Given the description of an element on the screen output the (x, y) to click on. 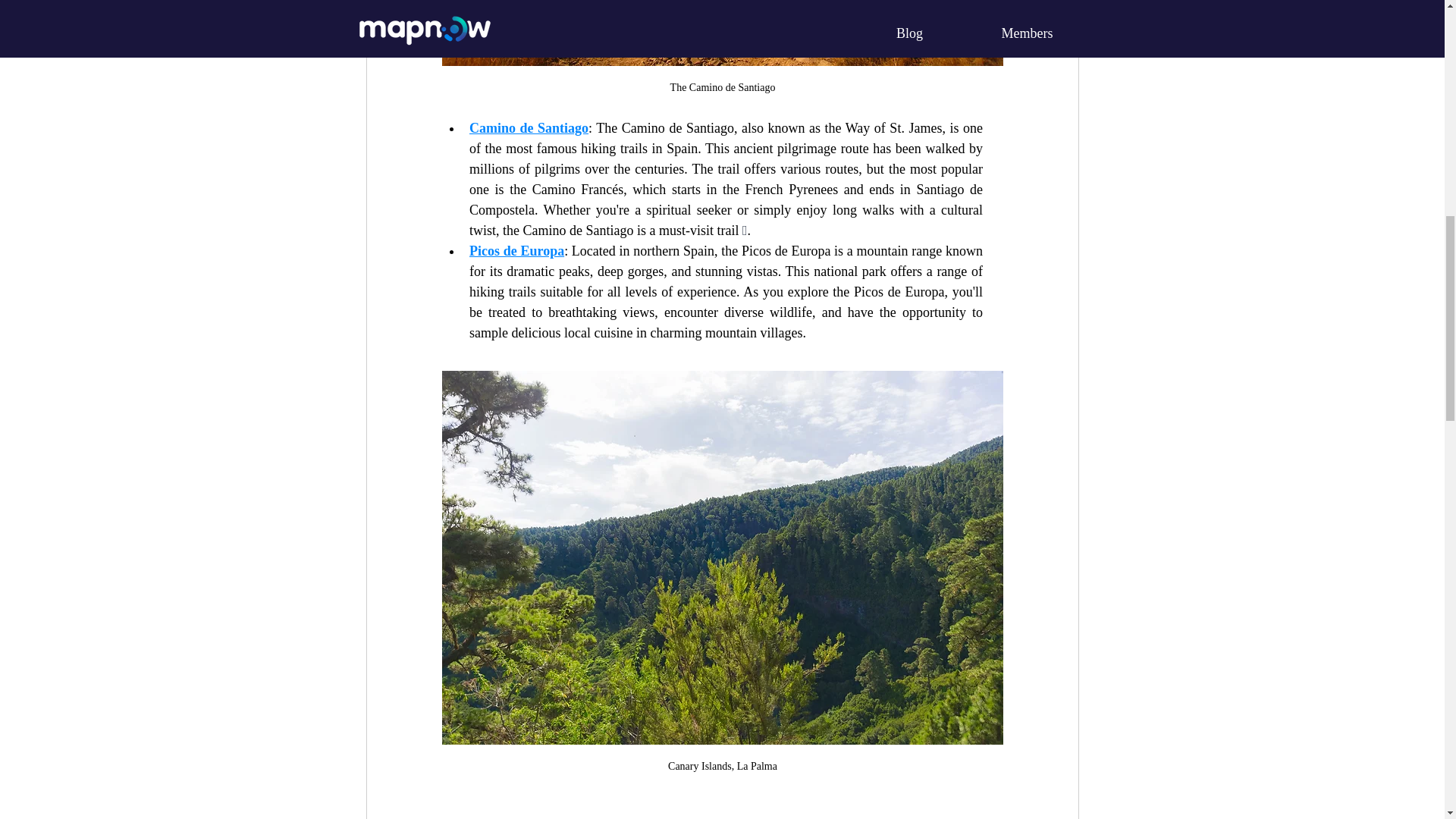
Camino de Santiago (528, 127)
Picos de Europa (515, 250)
